Given the description of an element on the screen output the (x, y) to click on. 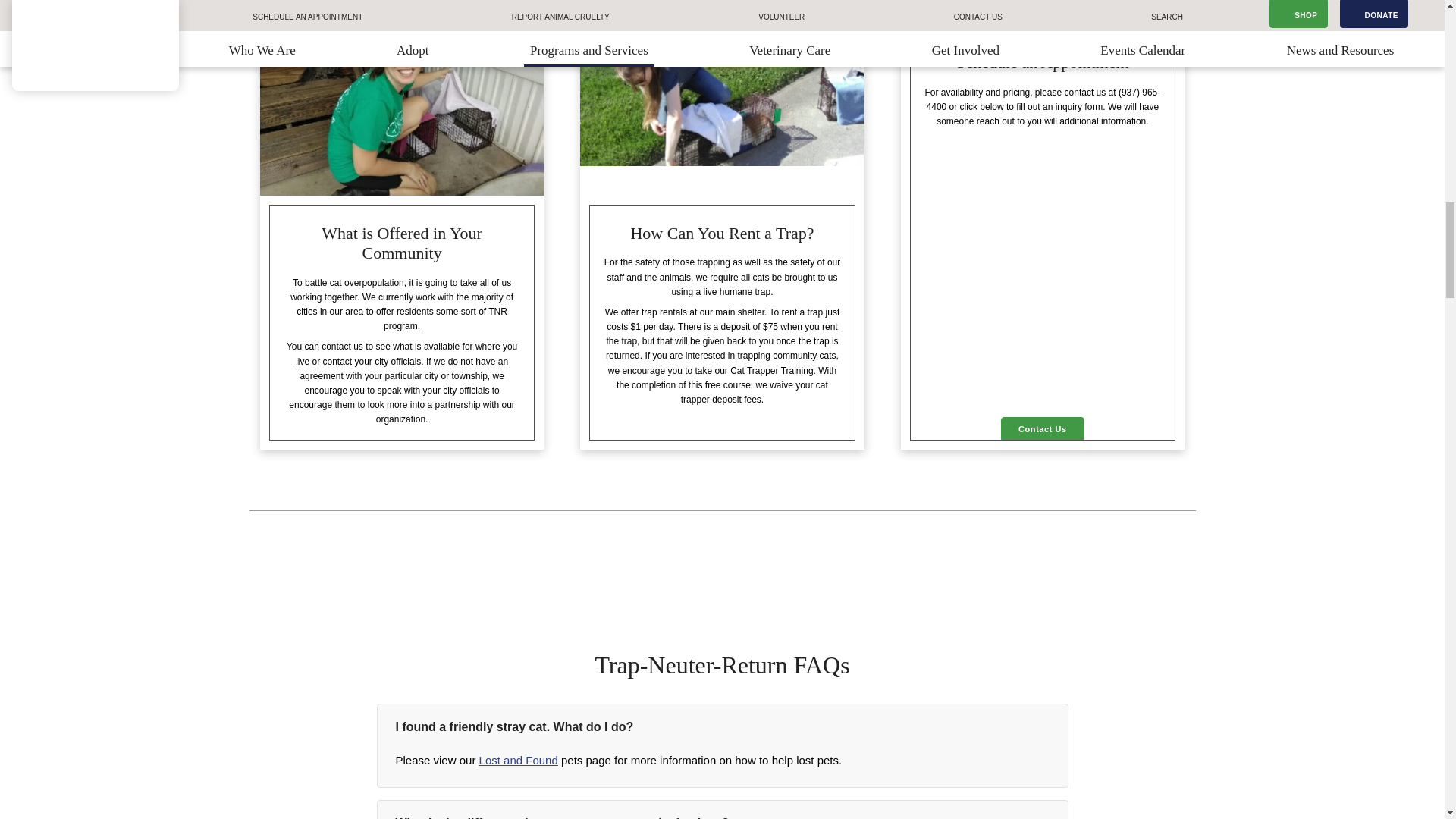
Lost and Found (518, 759)
Contact Us (1042, 427)
